Given the description of an element on the screen output the (x, y) to click on. 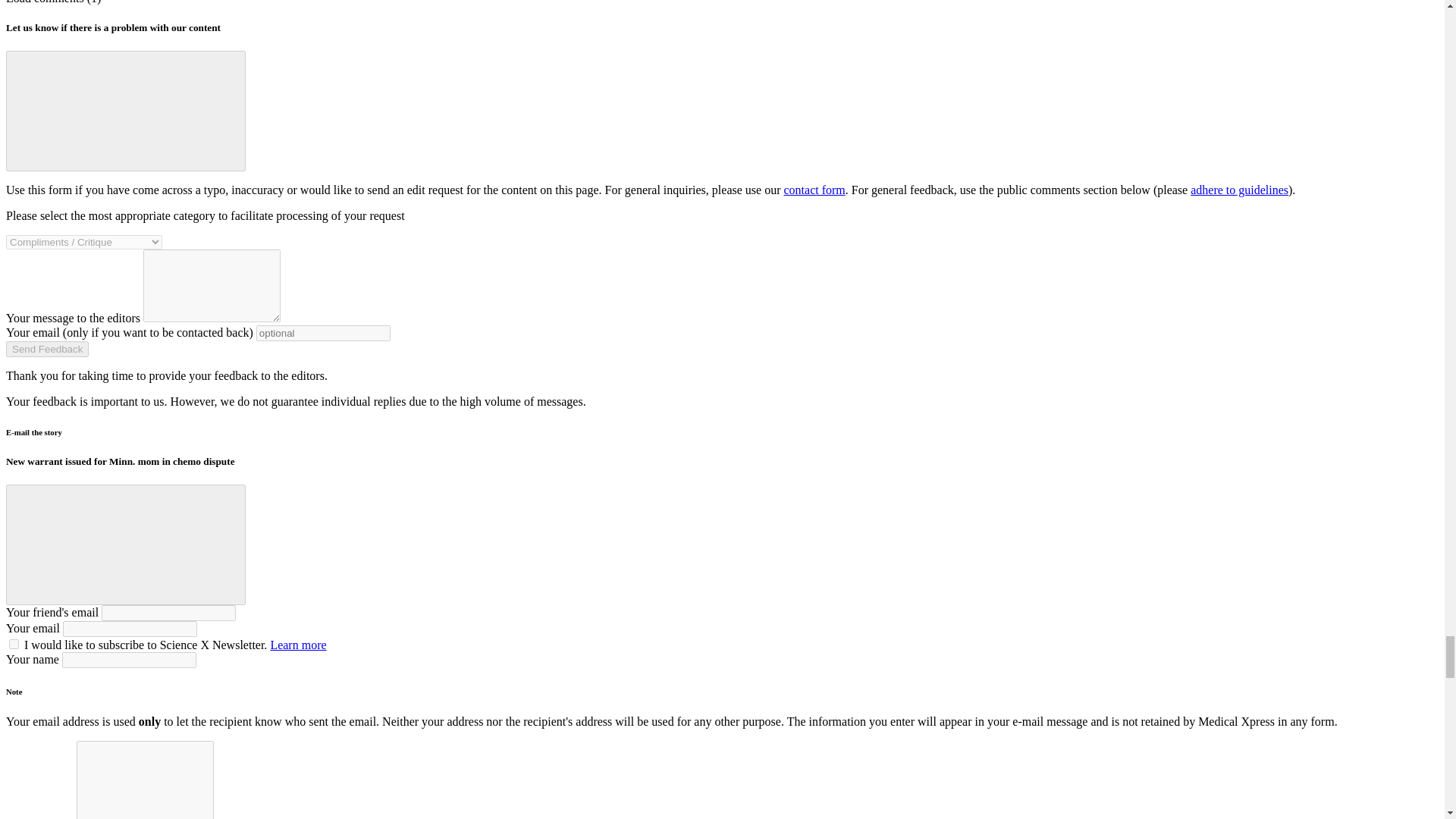
1 (13, 644)
